Given the description of an element on the screen output the (x, y) to click on. 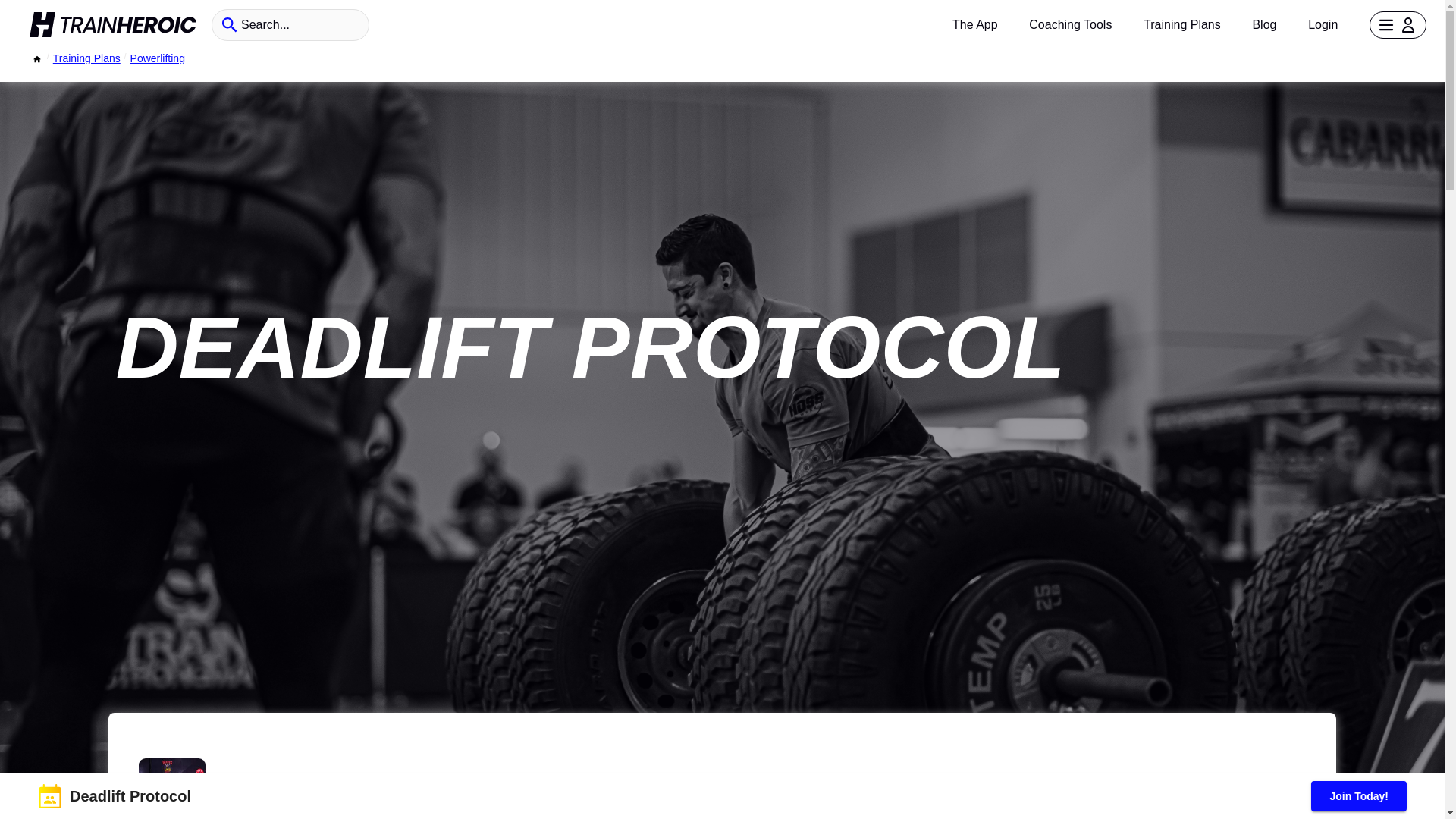
The Strength Pursuit (311, 780)
Coaching Tools (1070, 24)
Powerlifting (157, 58)
The App (974, 24)
Login (1322, 24)
Blog (1264, 24)
Training Plans (86, 58)
Training Plans (1181, 24)
Join Today! (1358, 796)
